Given the description of an element on the screen output the (x, y) to click on. 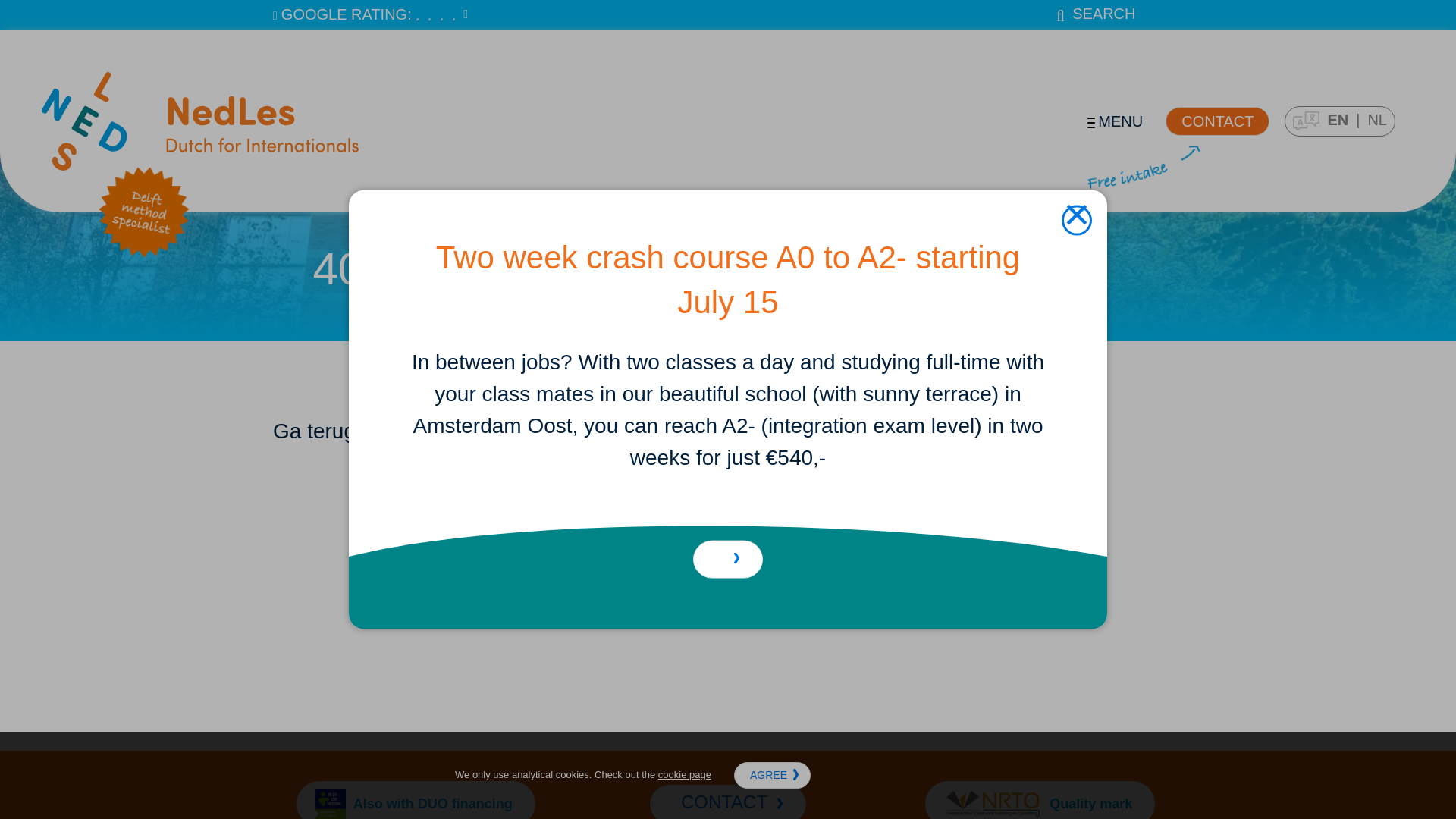
CONTACT (727, 801)
homepage (488, 431)
Also with DUO financing (416, 800)
NL (1377, 119)
Quality mark (1039, 800)
CONTACT (1217, 121)
